Given the description of an element on the screen output the (x, y) to click on. 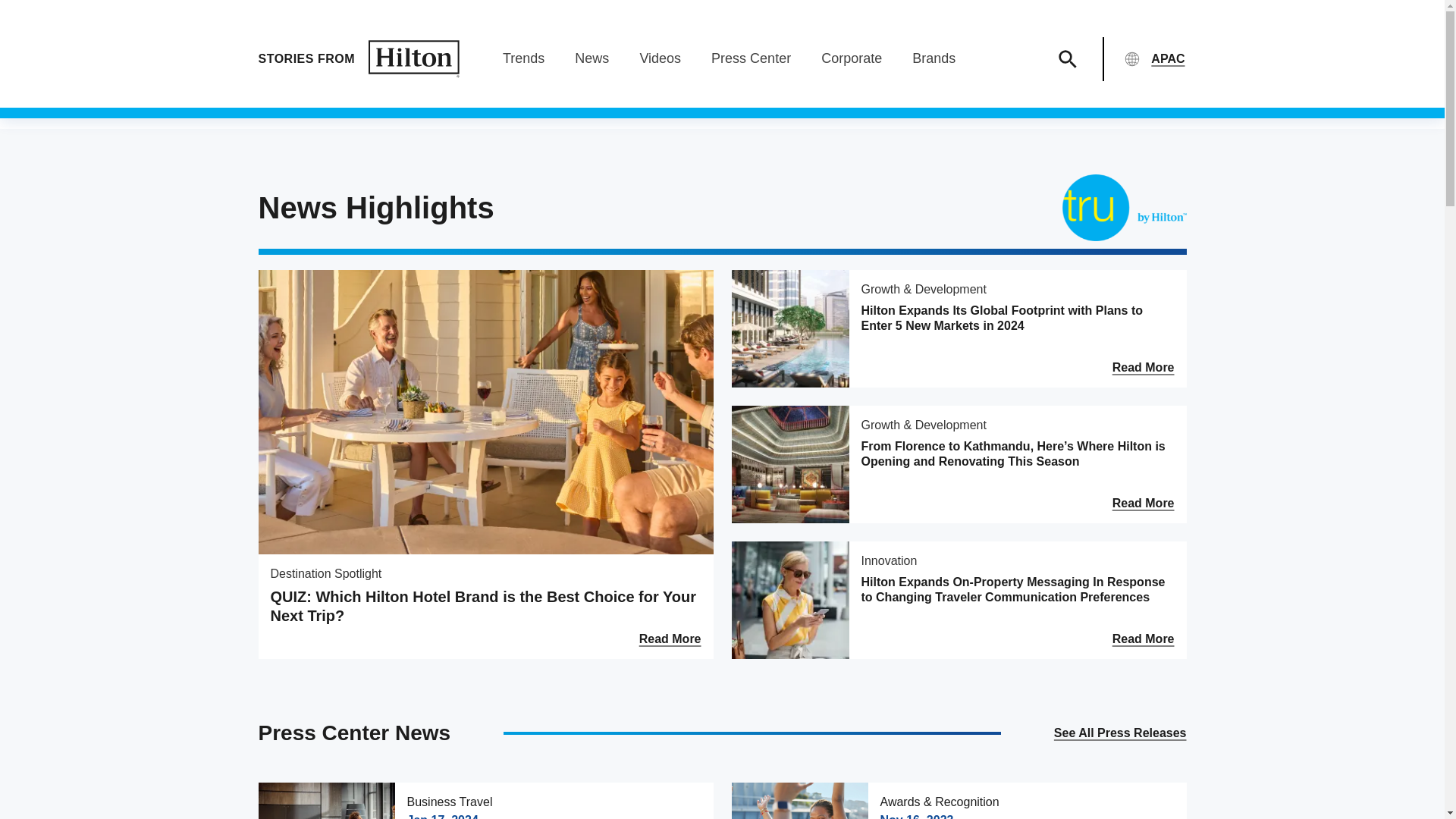
Corporate (851, 58)
Press Center (750, 58)
Trends (523, 58)
STORIES FROM (358, 58)
News (591, 58)
Videos (660, 58)
